Given the description of an element on the screen output the (x, y) to click on. 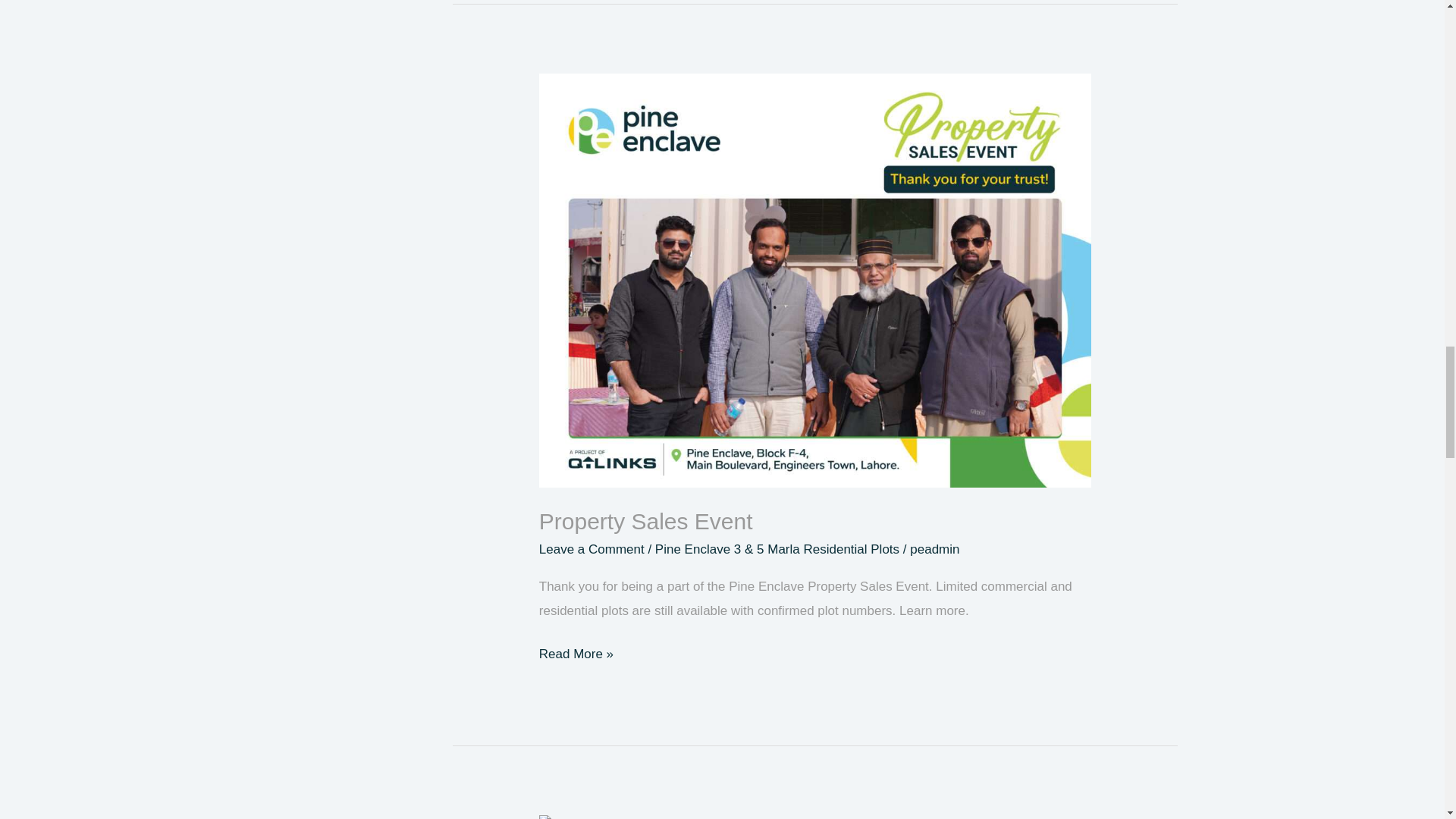
View all posts by peadmin (934, 549)
